Given the description of an element on the screen output the (x, y) to click on. 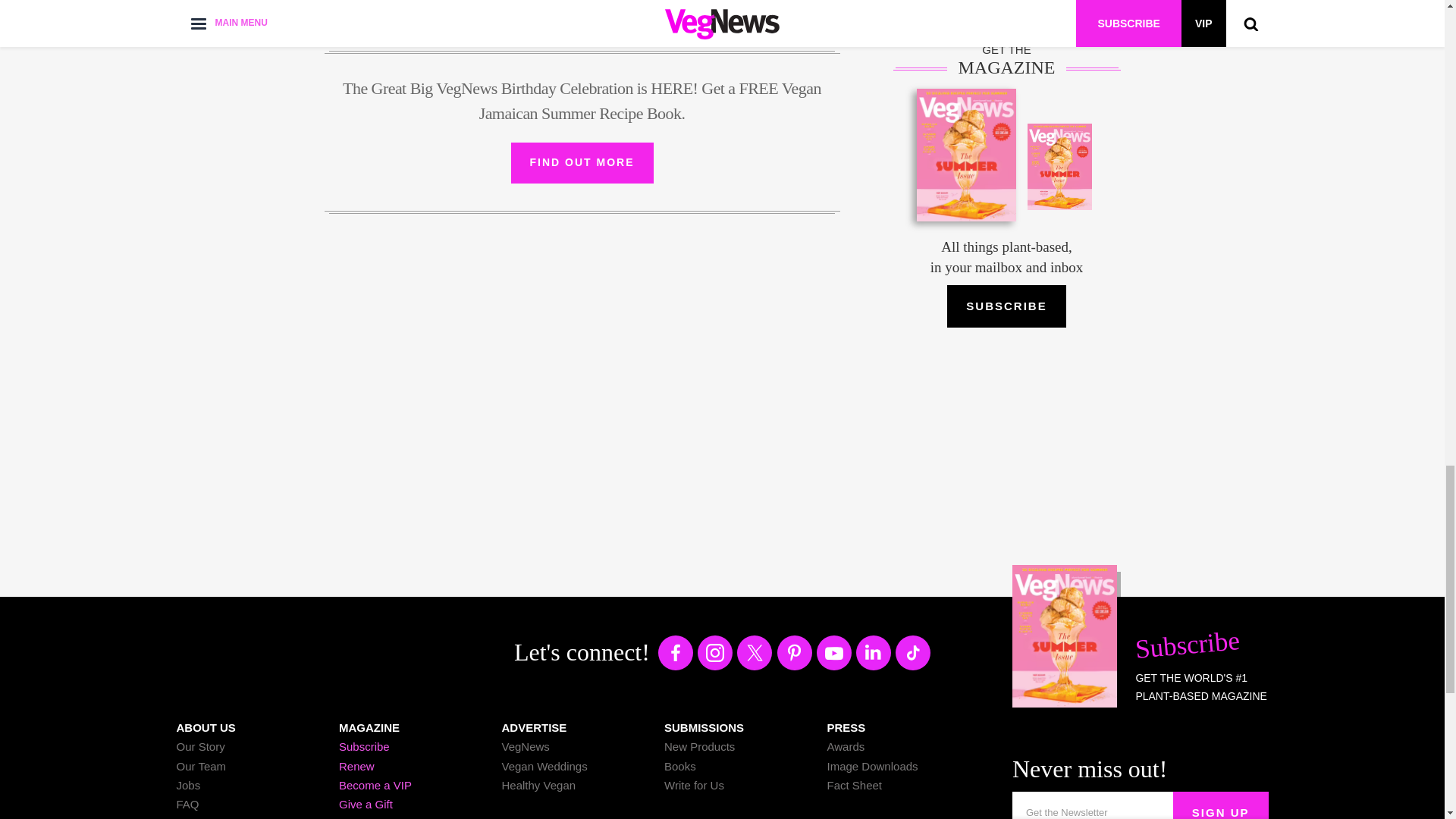
Share article on Twitter (601, 8)
Share article via email (661, 8)
Sign Up (1220, 805)
